Given the description of an element on the screen output the (x, y) to click on. 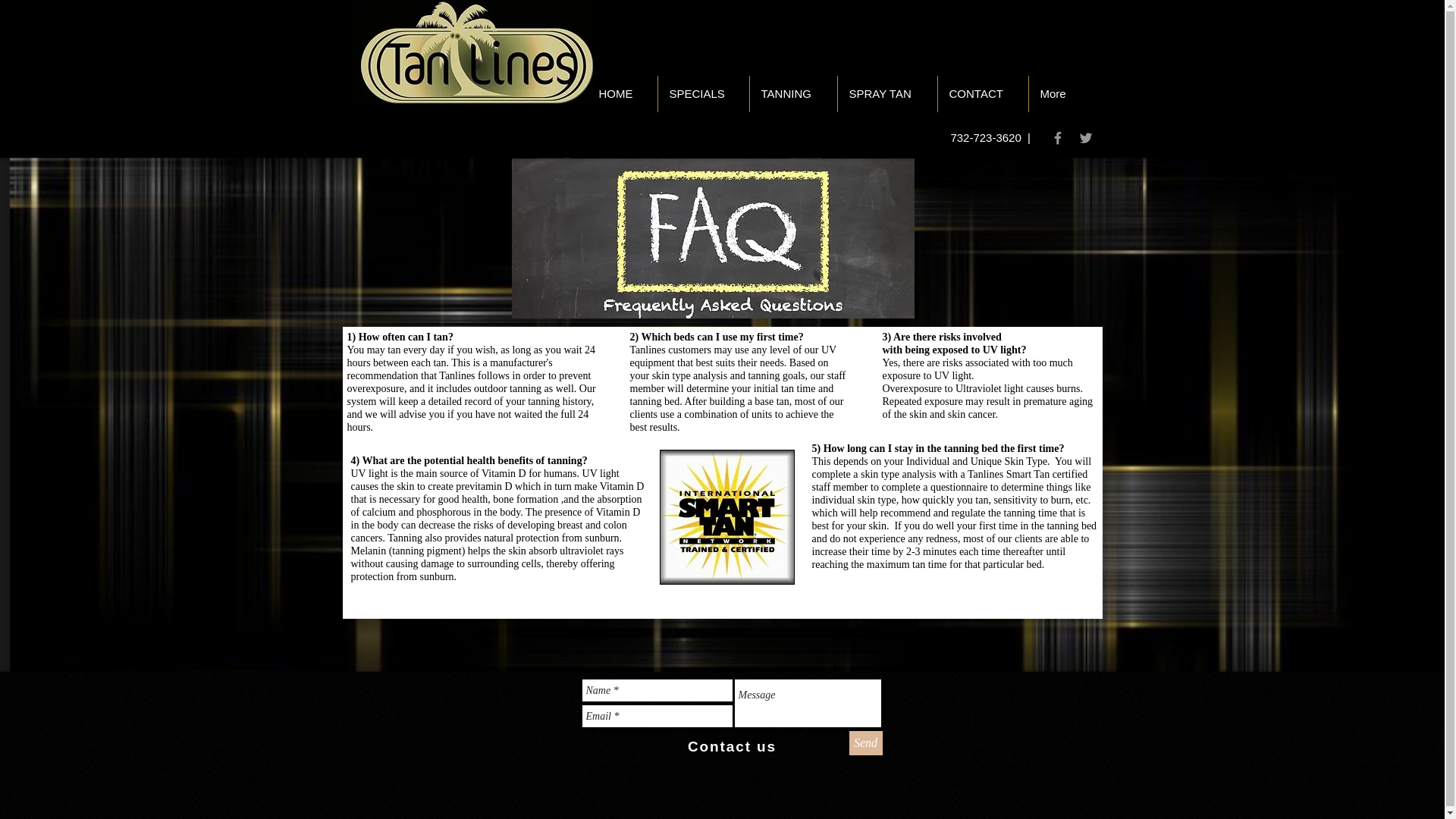
faq.jpg (712, 238)
TANNING (792, 94)
HOME (621, 94)
smart tan.jpg (726, 516)
Send (865, 743)
CONTACT (982, 94)
SPRAY TAN (886, 94)
SPECIALS (703, 94)
